Given the description of an element on the screen output the (x, y) to click on. 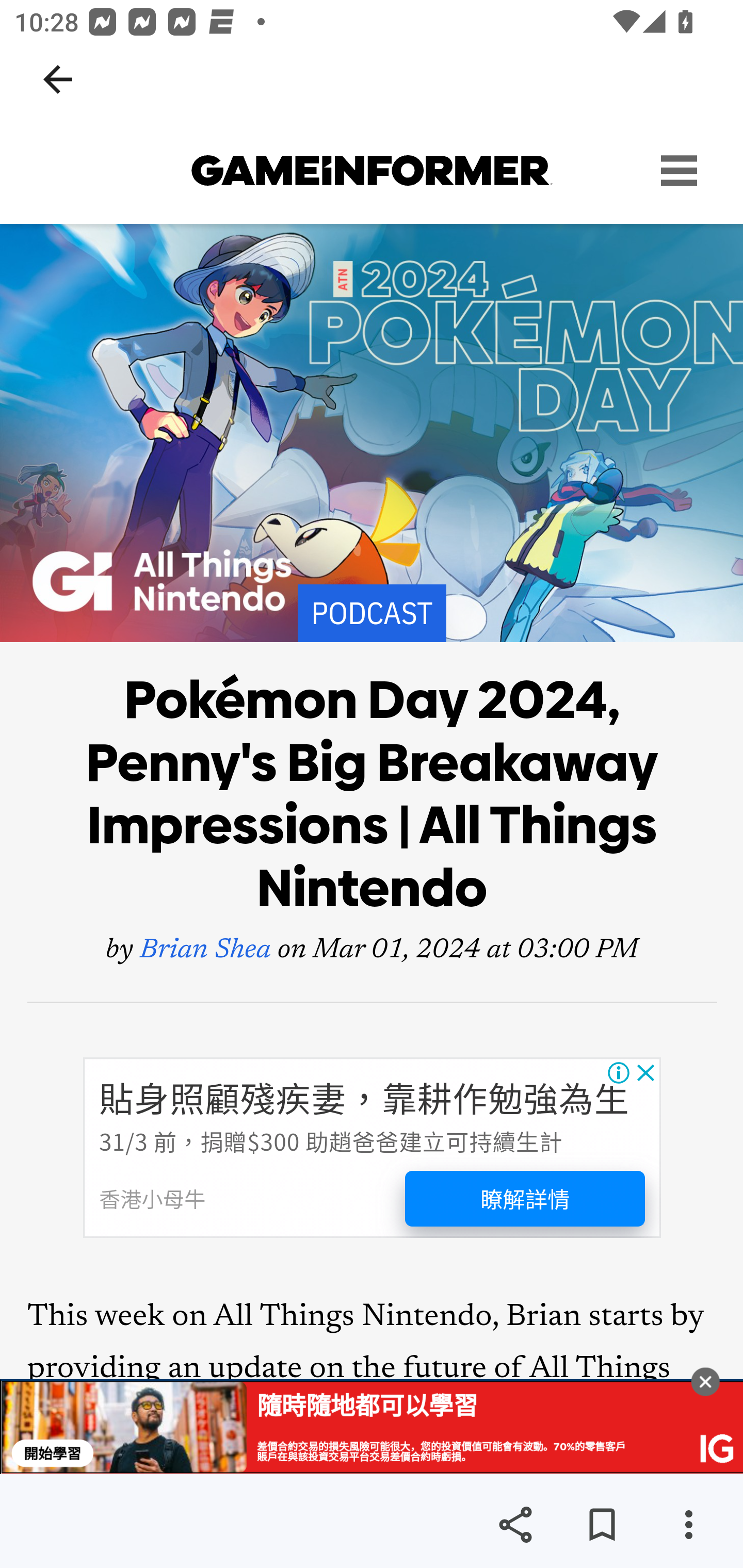
Navigate up (57, 79)
www.gameinformer (371, 170)
Brian Shea (204, 950)
貼身照顧殘疾妻，靠耕作勉強為生 (363, 1097)
31/3 前，捐贈$300 助趙爸爸建立可持續生計 (330, 1140)
瞭解詳情 (525, 1198)
香港小母牛 (152, 1198)
Share (514, 1524)
Save for later (601, 1524)
More options (688, 1524)
